Given the description of an element on the screen output the (x, y) to click on. 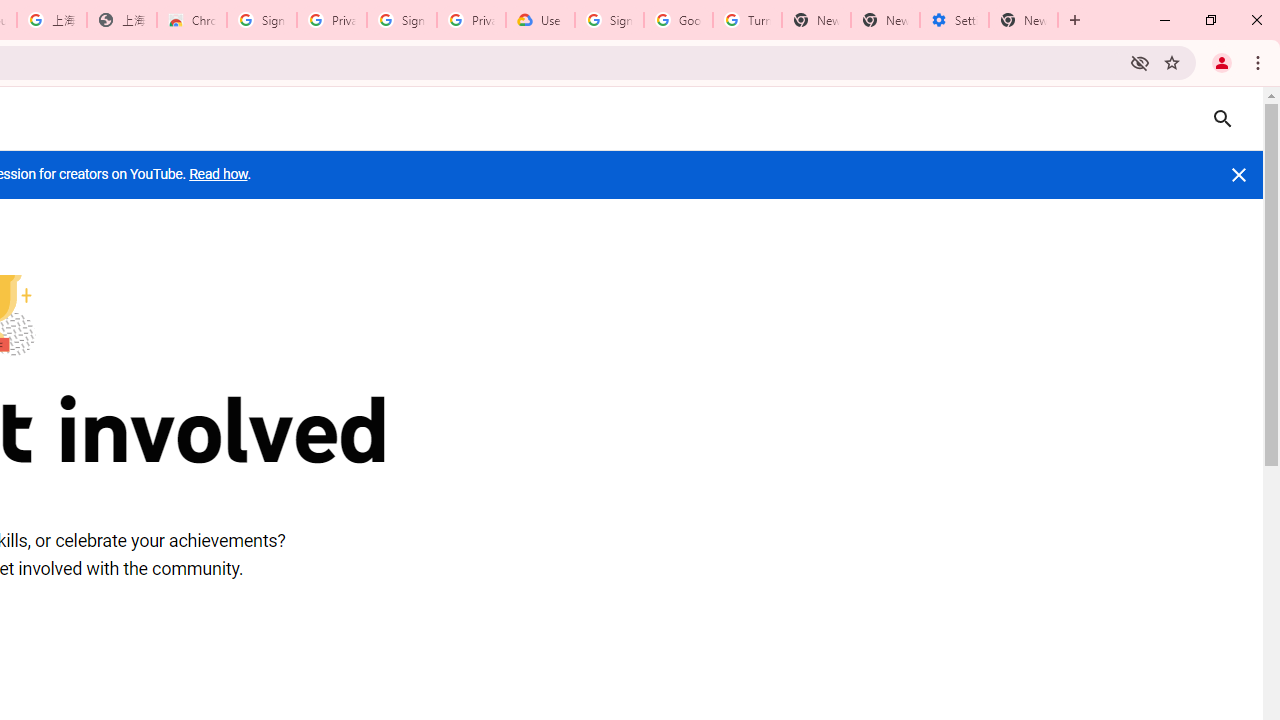
Sign in - Google Accounts (608, 20)
Settings - System (954, 20)
Sign in - Google Accounts (261, 20)
Turn cookies on or off - Computer - Google Account Help (747, 20)
New Tab (1023, 20)
Read how (218, 174)
